Given the description of an element on the screen output the (x, y) to click on. 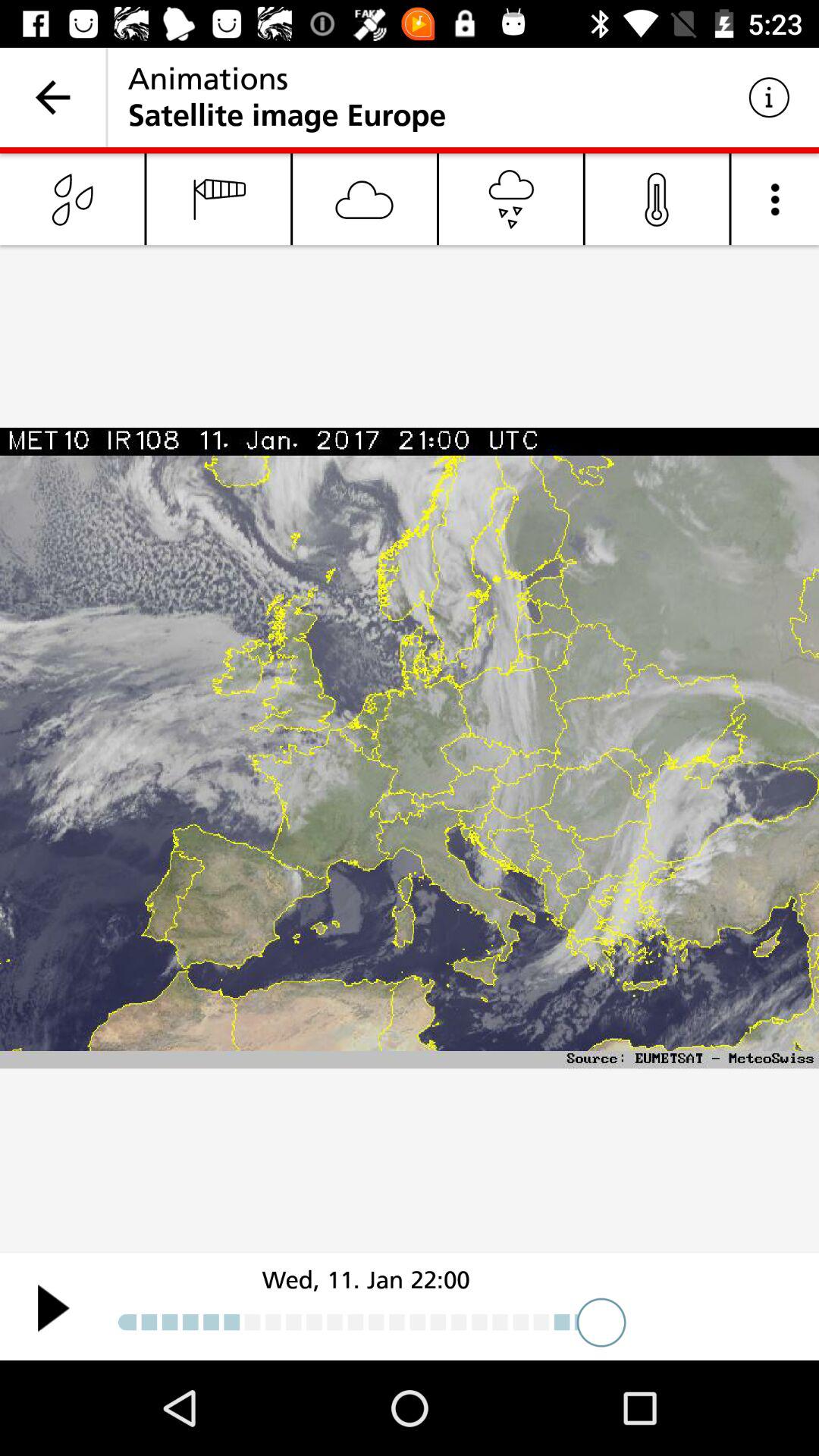
more options (775, 199)
